Given the description of an element on the screen output the (x, y) to click on. 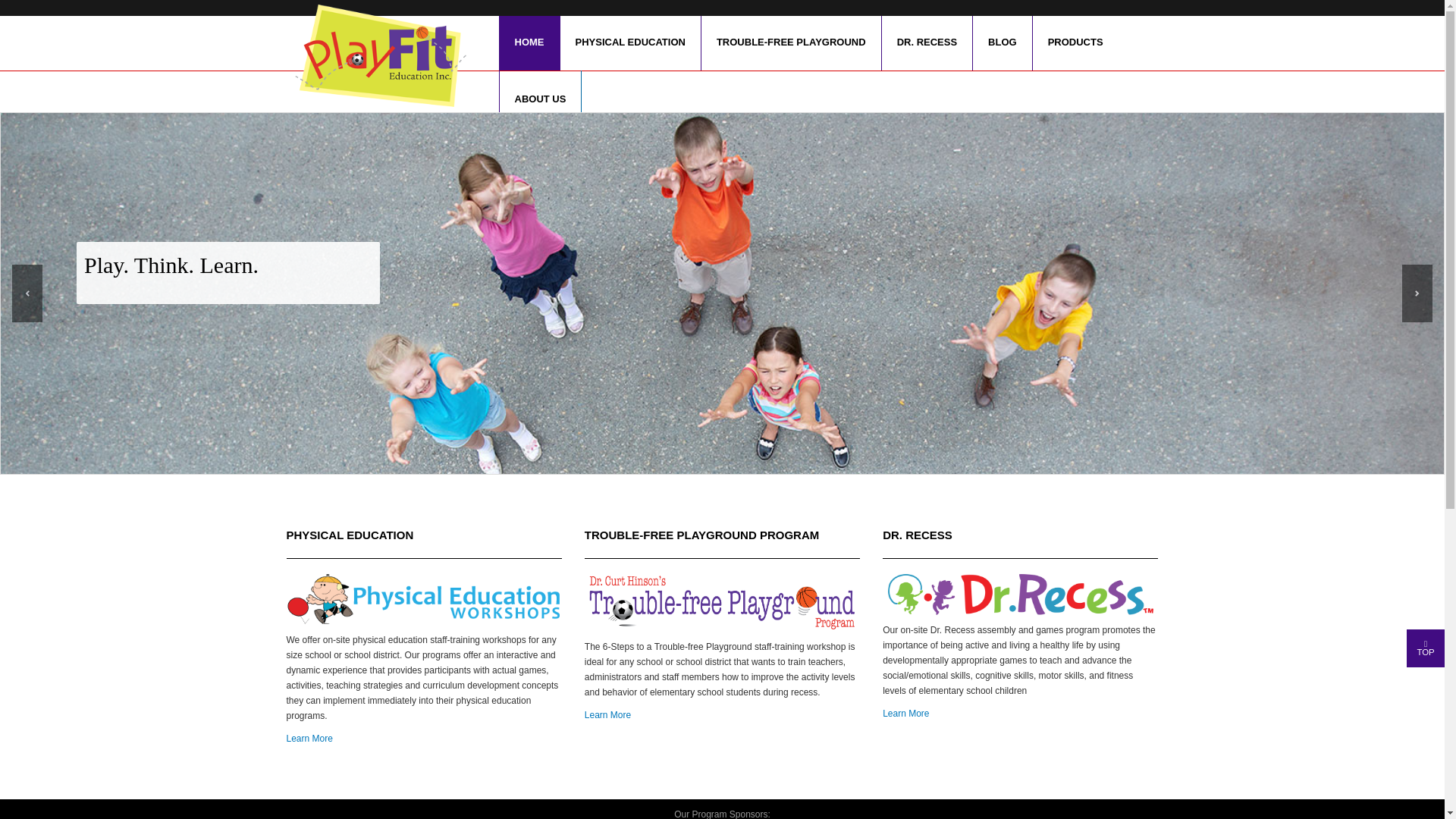
Playfit Education (386, 55)
Learn More (905, 713)
Learn More (309, 738)
HOME (529, 41)
TROUBLE-FREE PLAYGROUND (790, 41)
BLOG (1002, 41)
PHYSICAL EDUCATION (629, 41)
Learn More (607, 715)
PRODUCTS (1075, 41)
DR. RECESS (926, 41)
ABOUT US (540, 98)
